Given the description of an element on the screen output the (x, y) to click on. 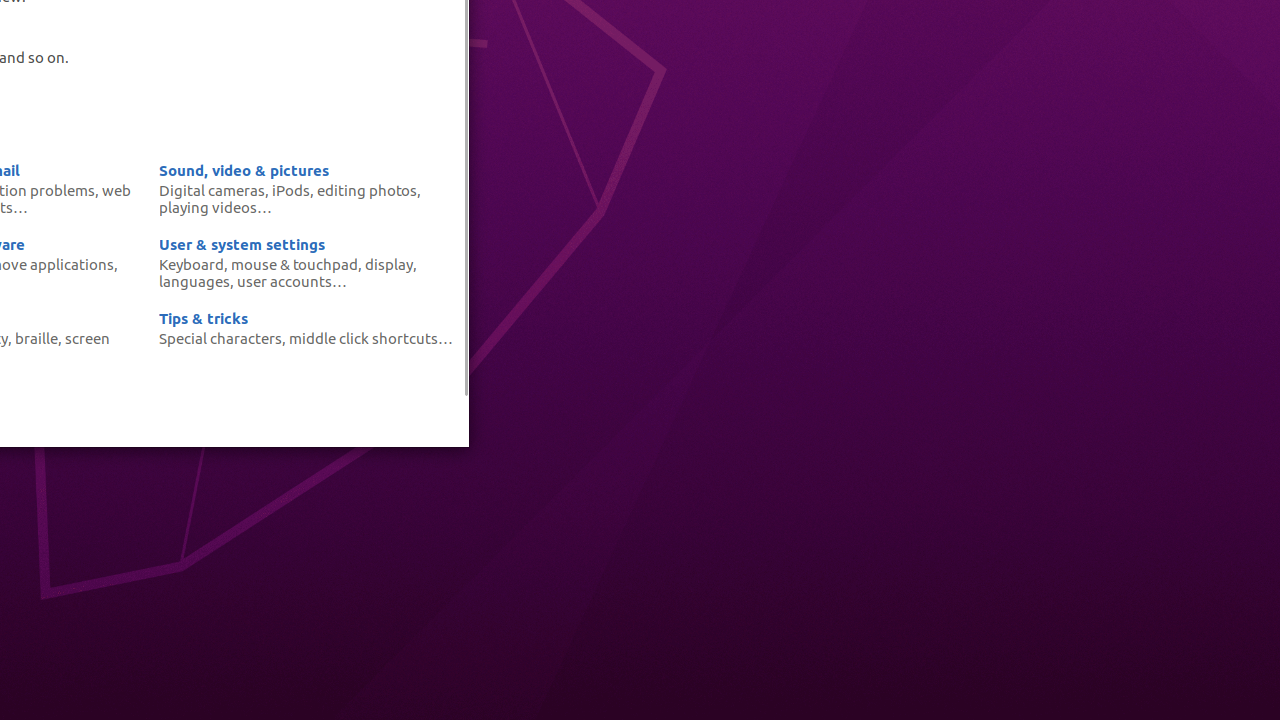
Digital cameras Element type: link (212, 190)
Keyboard Element type: link (191, 264)
middle click shortcuts Element type: link (363, 338)
display Element type: link (389, 264)
user accounts Element type: link (284, 281)
